Given the description of an element on the screen output the (x, y) to click on. 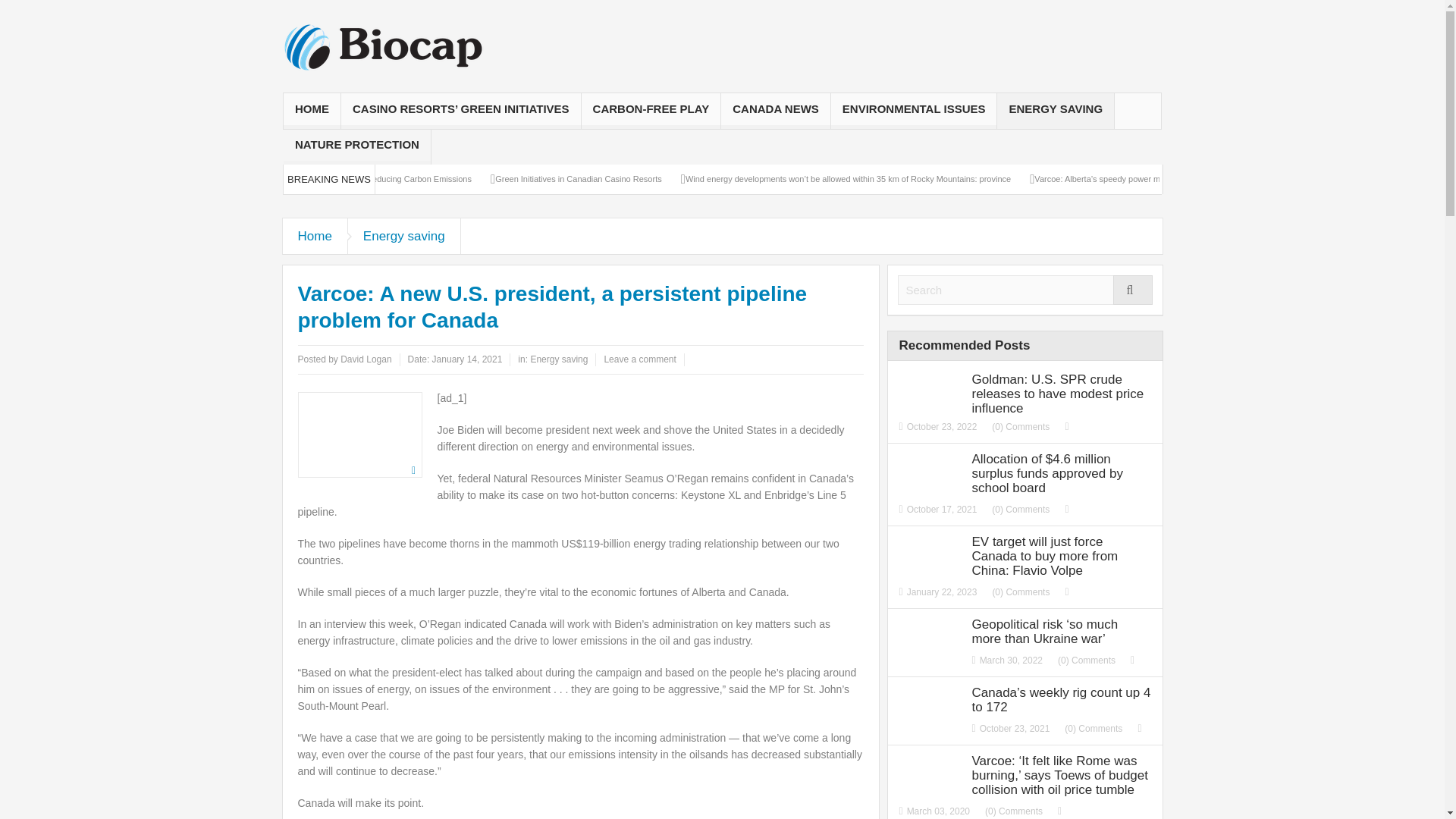
Search (1025, 289)
Home (314, 235)
Green Initiatives in Canadian Casino Resorts (578, 178)
ENVIRONMENTAL ISSUES (914, 110)
Energy saving (404, 235)
CARBON-FREE PLAY (650, 110)
HOME (311, 110)
Energy saving (558, 358)
ENERGY SAVING (1055, 110)
Energy saving (404, 235)
